Given the description of an element on the screen output the (x, y) to click on. 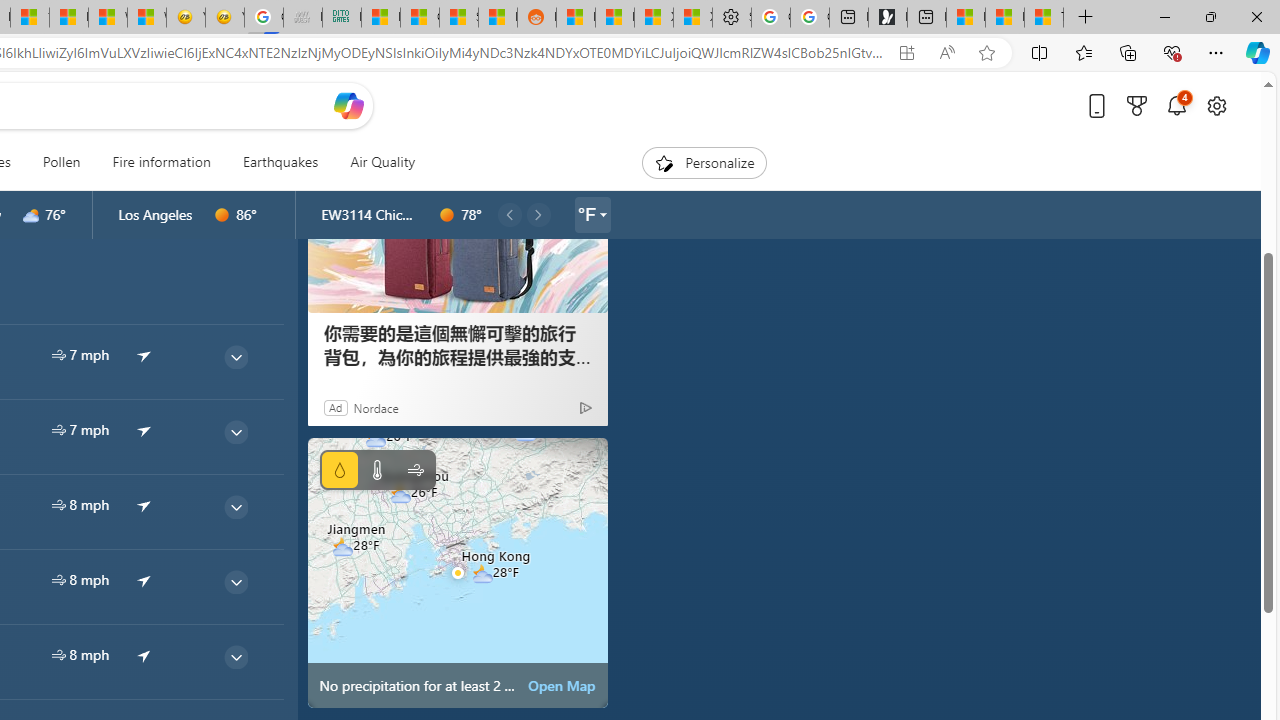
Earthquakes (280, 162)
locationBar/triangle (602, 214)
R******* | Trusted Community Engagement and Contributions (575, 17)
Fire information (161, 162)
